Given the description of an element on the screen output the (x, y) to click on. 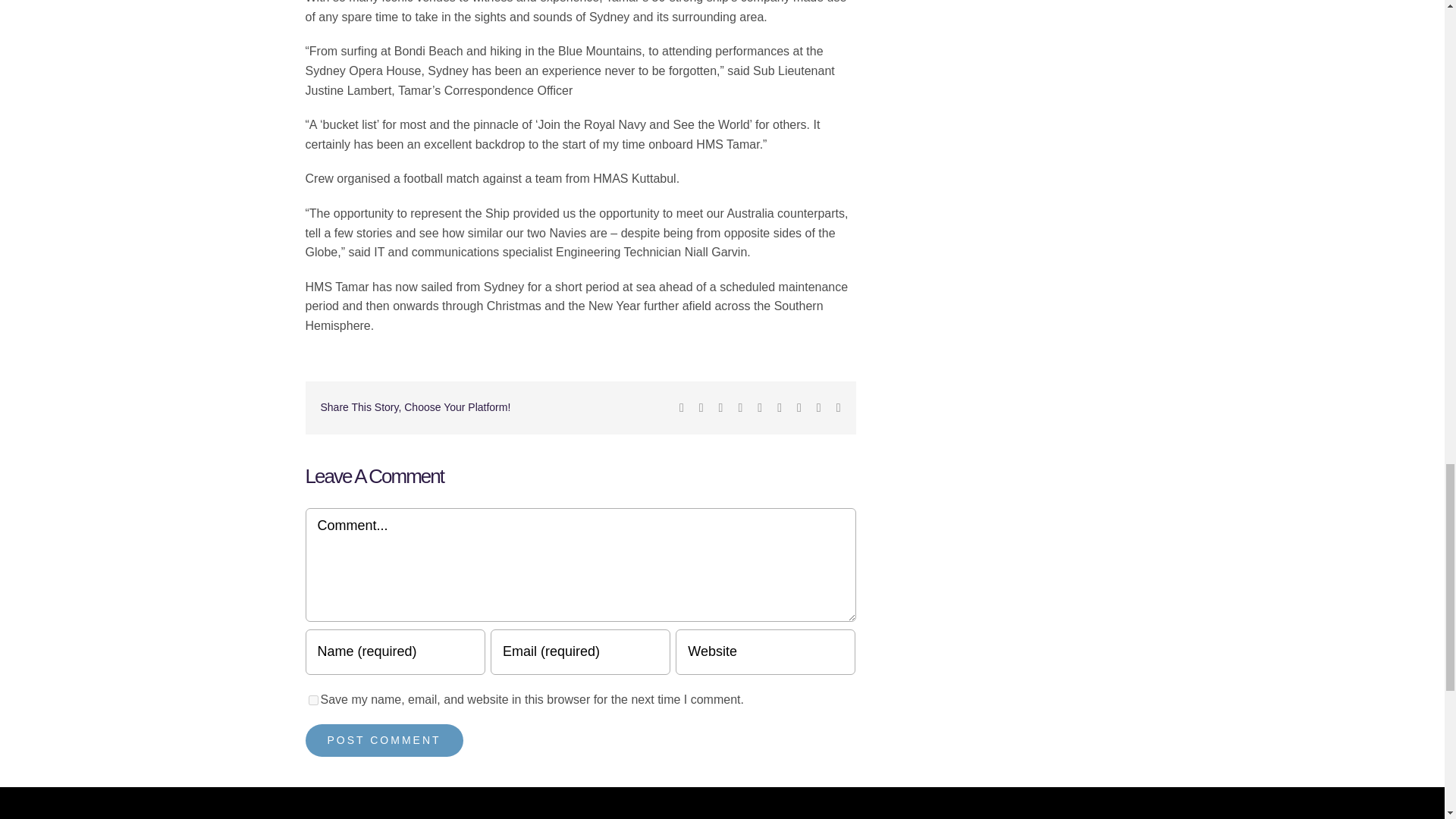
Post Comment (383, 739)
Post Comment (383, 739)
yes (312, 700)
